Given the description of an element on the screen output the (x, y) to click on. 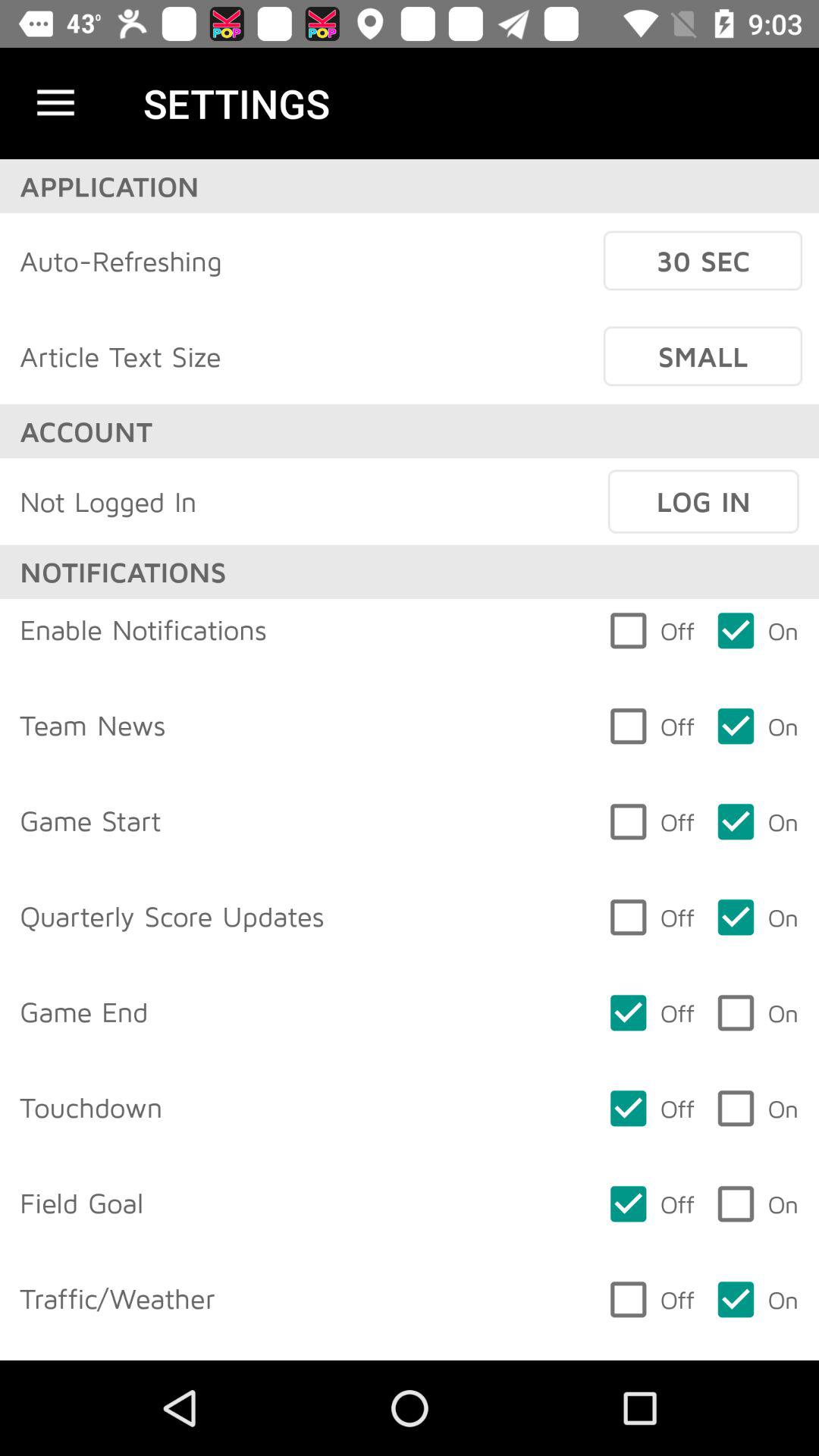
open item to the left of the settings icon (55, 103)
